Given the description of an element on the screen output the (x, y) to click on. 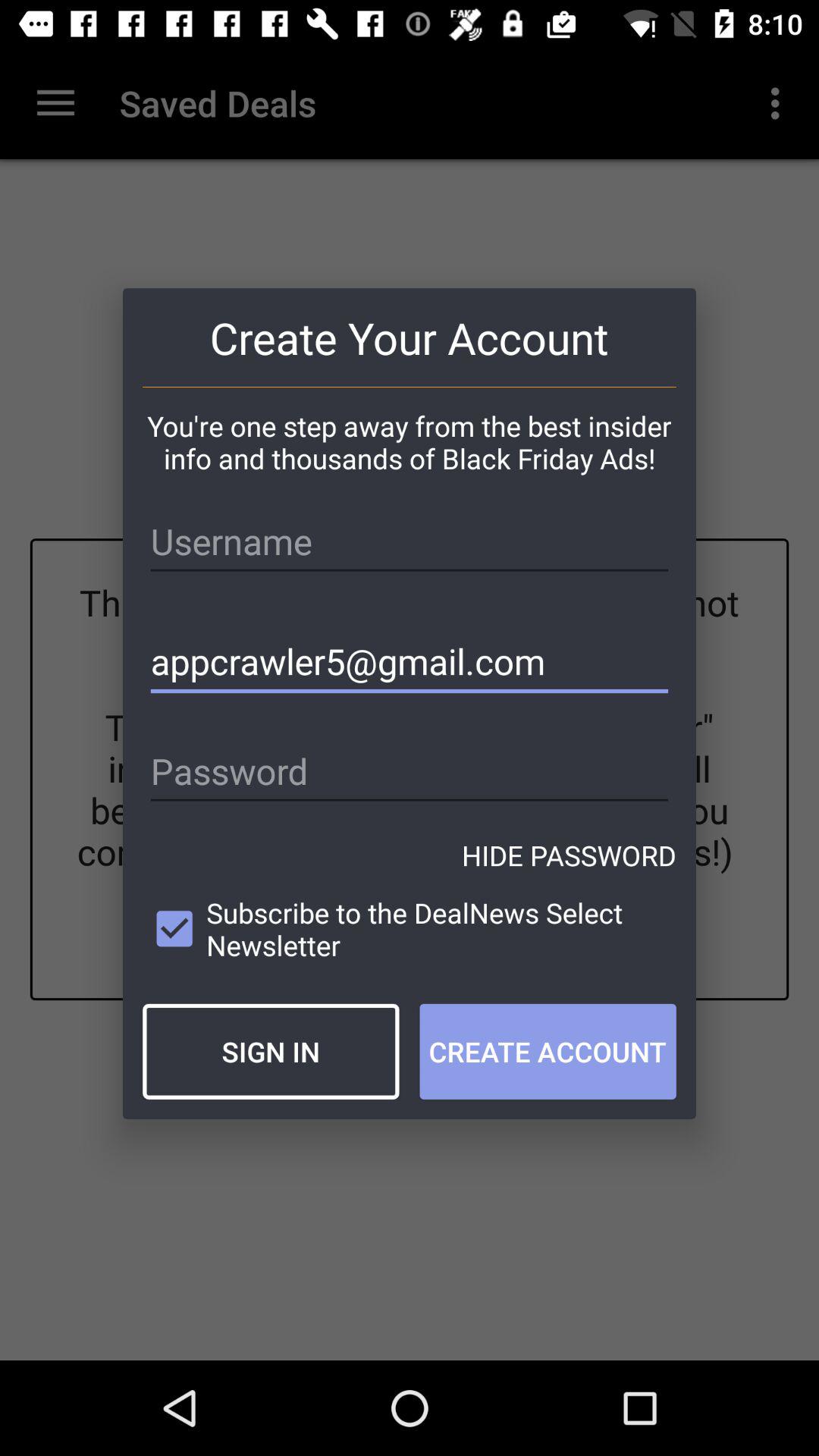
launch the item to the left of the create account icon (270, 1051)
